Given the description of an element on the screen output the (x, y) to click on. 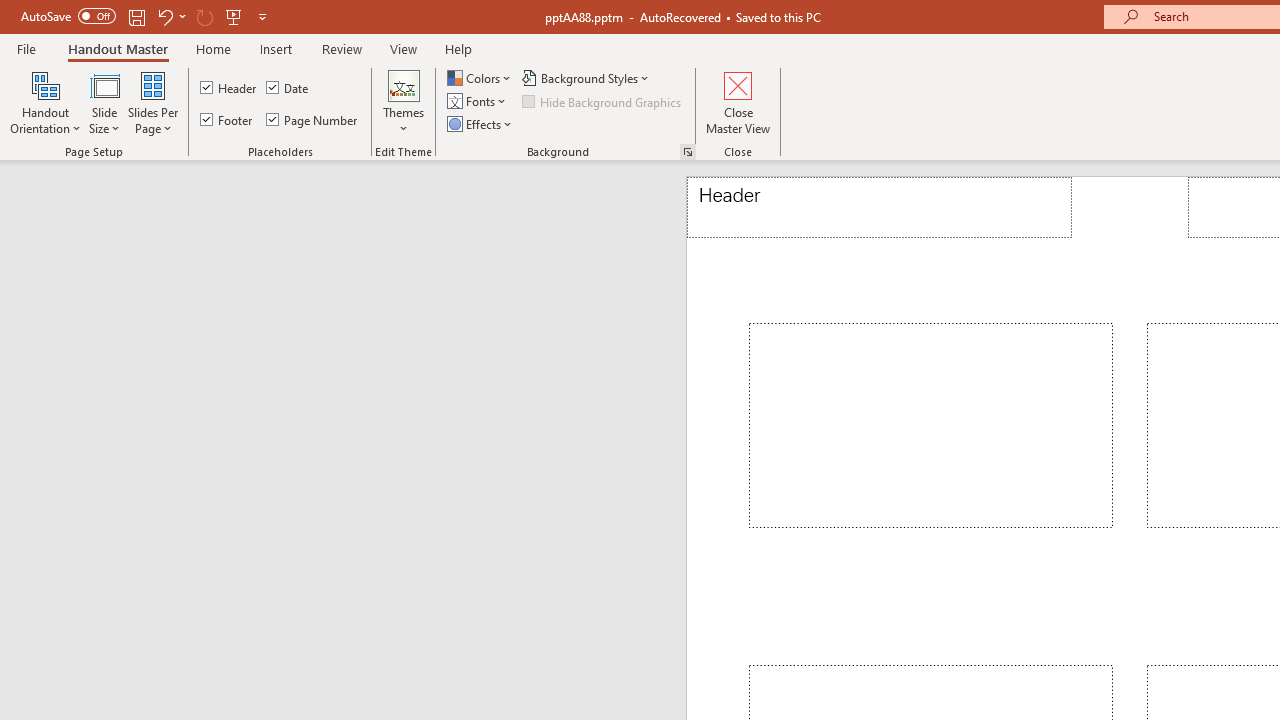
Themes (404, 102)
Header (229, 87)
Date (288, 87)
Background Styles (586, 78)
